Given the description of an element on the screen output the (x, y) to click on. 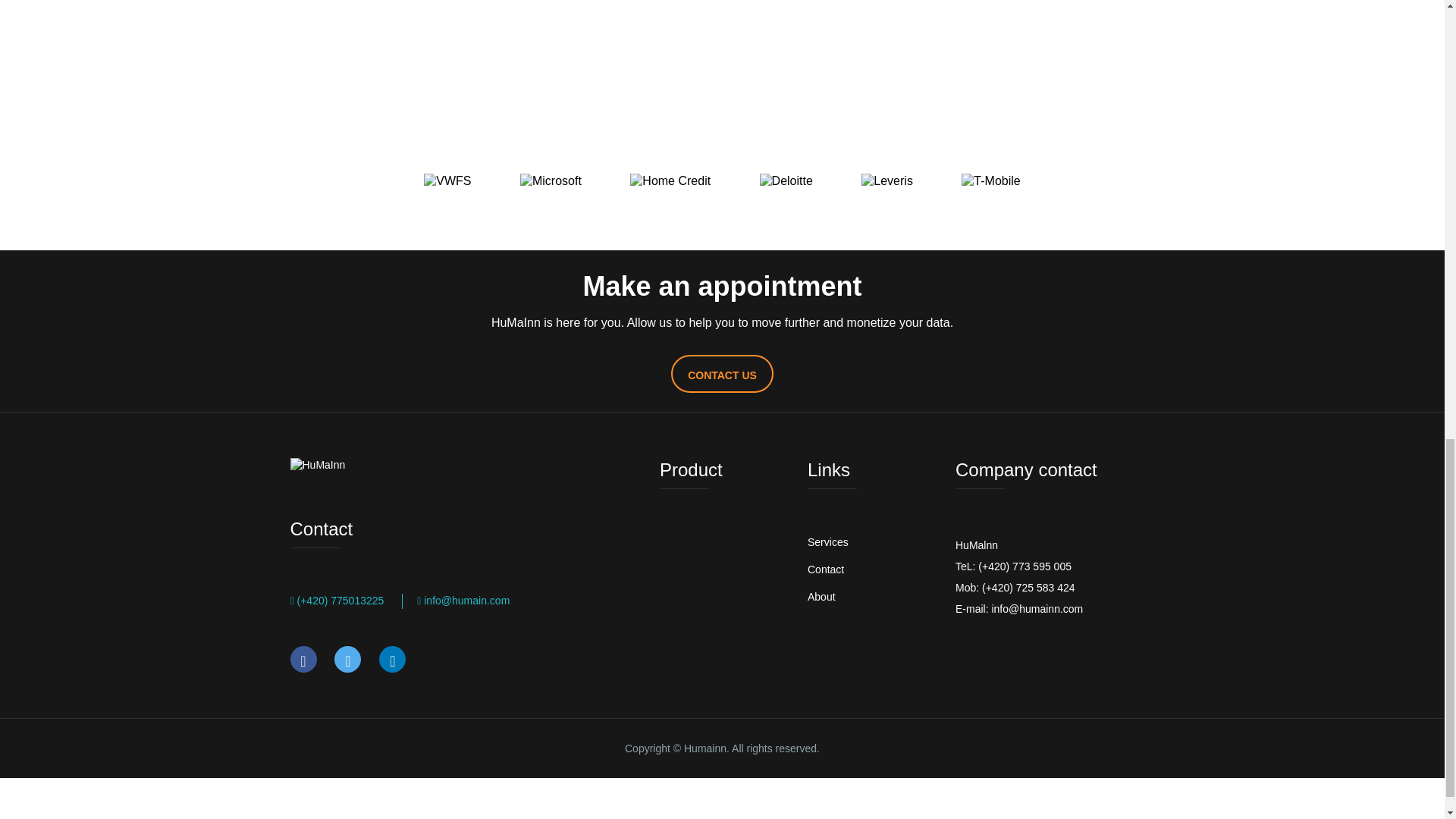
About (821, 596)
CONTACT US (722, 373)
Services (828, 541)
Contact (826, 569)
